Given the description of an element on the screen output the (x, y) to click on. 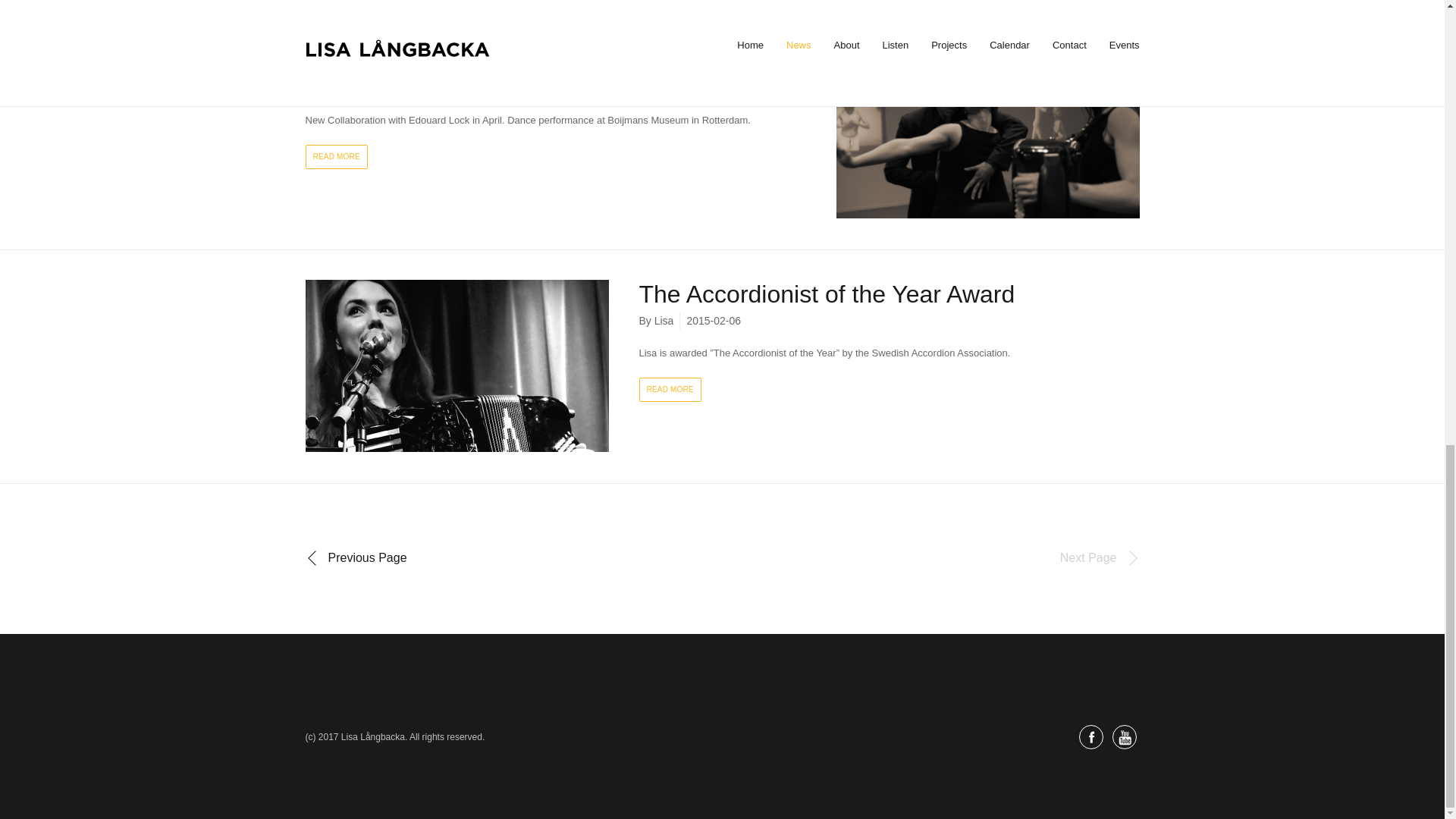
Previous Page (355, 557)
Next Page (1099, 557)
Next Page (1099, 557)
Dance Performance in Rotterdam (485, 61)
READ MORE (335, 156)
Previous Page (355, 557)
The Accordionist of the Year Award (826, 293)
READ MORE (669, 389)
